Given the description of an element on the screen output the (x, y) to click on. 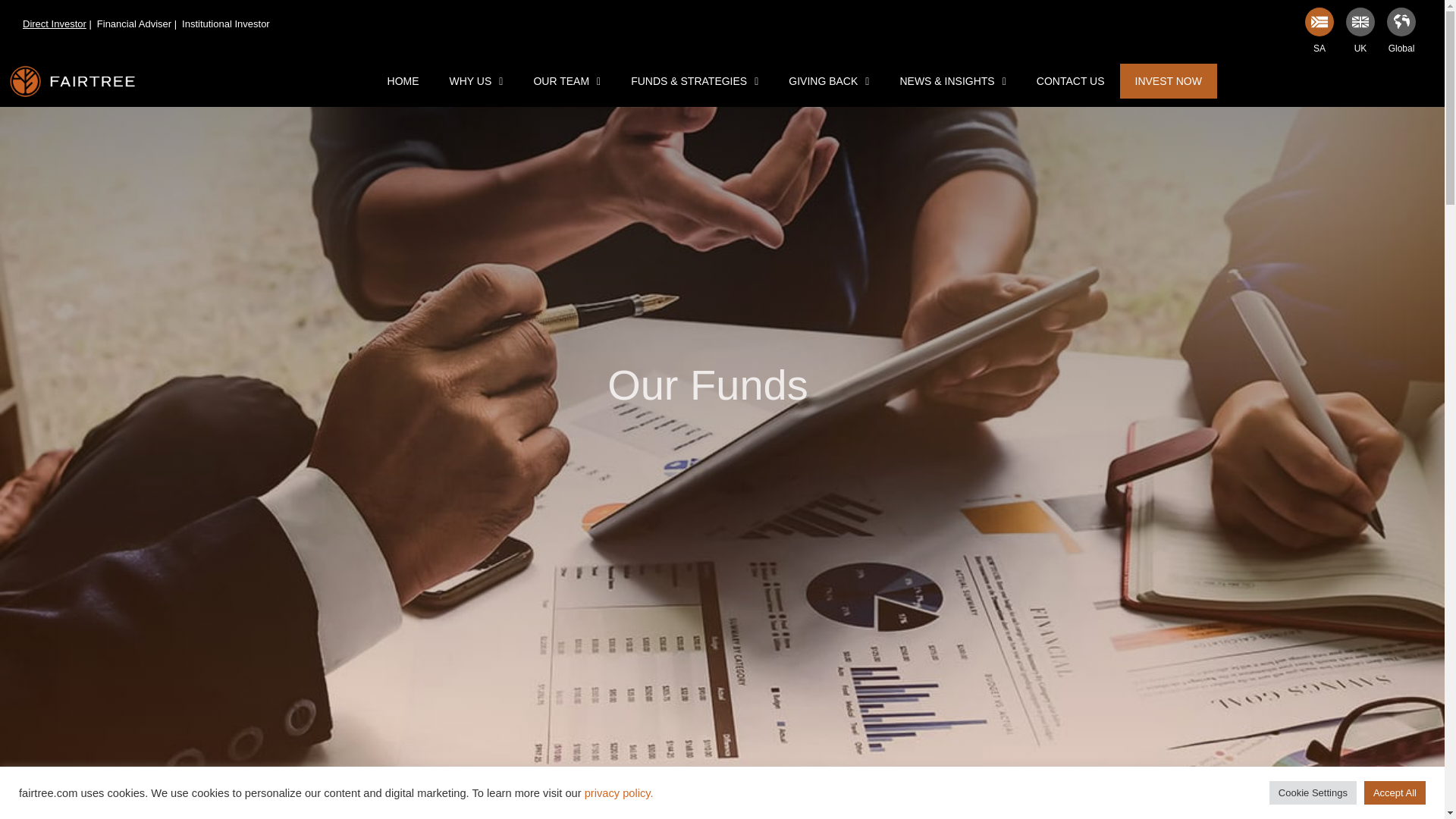
Institutional Investor (226, 23)
HOME (402, 80)
Global (1402, 47)
fairtree icon (721, 804)
WHY US (475, 80)
UK (1360, 47)
SA (1318, 47)
OUR TEAM (566, 80)
